Given the description of an element on the screen output the (x, y) to click on. 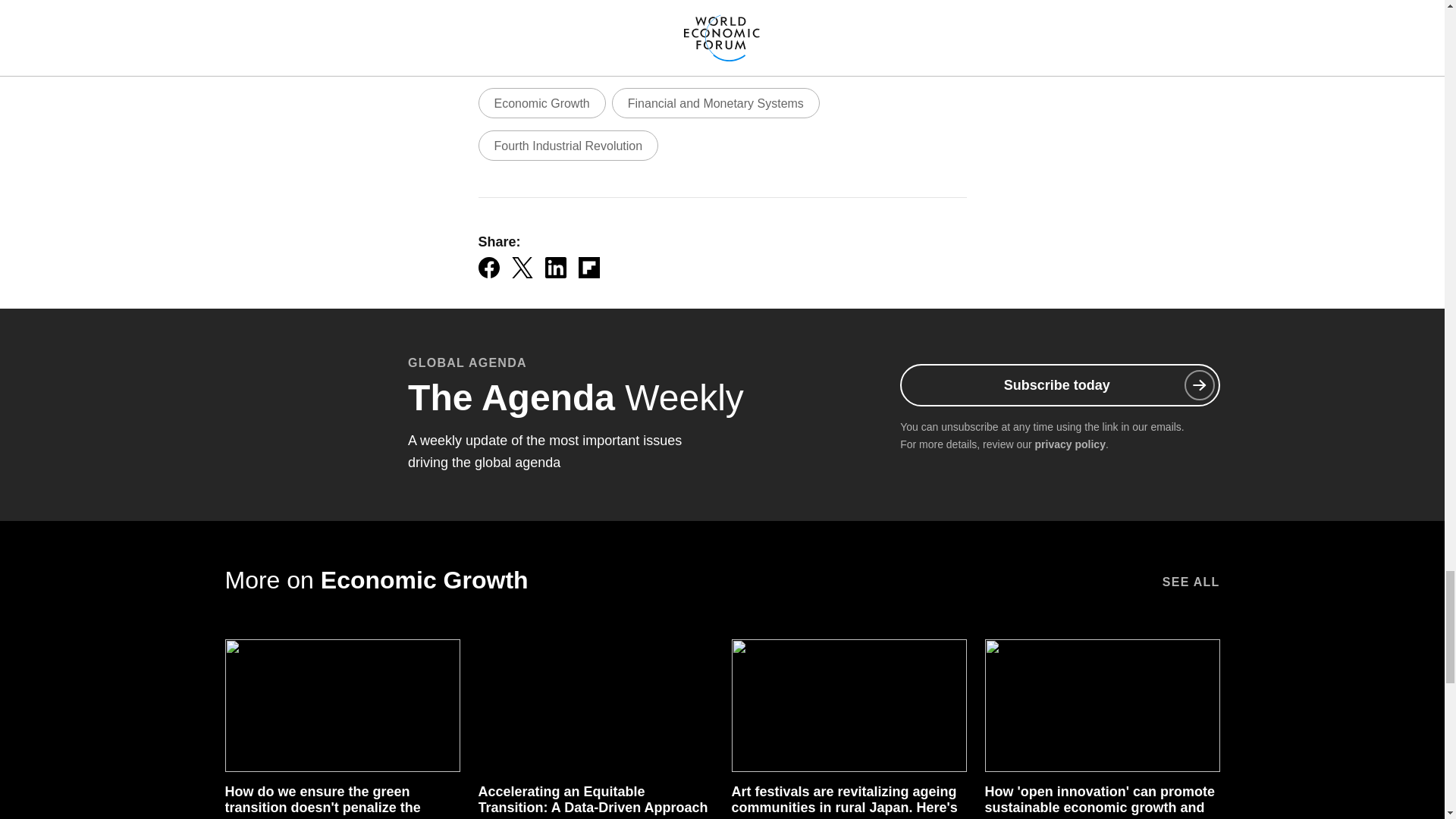
Fourth Industrial Revolution (567, 145)
SEE ALL (1190, 579)
Subscribe today (1059, 384)
privacy policy (1070, 444)
Economic Growth (541, 102)
Accelerating an Equitable Transition: A Data-Driven Approach (592, 799)
Financial and Monetary Systems (715, 102)
